Given the description of an element on the screen output the (x, y) to click on. 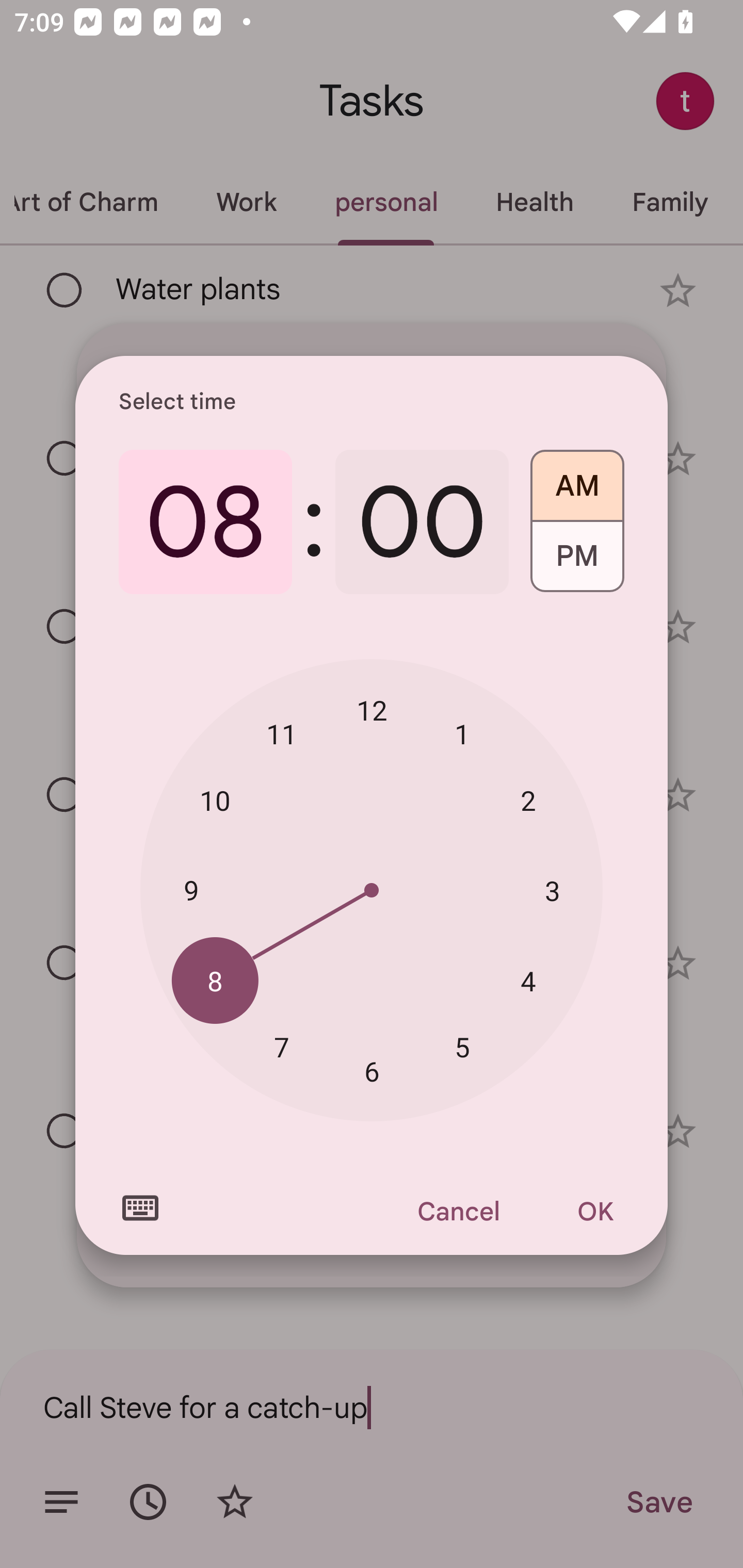
AM (577, 478)
08 8 o'clock (204, 522)
00 0 minutes (421, 522)
PM (577, 563)
12 12 o'clock (371, 710)
11 11 o'clock (281, 733)
1 1 o'clock (462, 733)
10 10 o'clock (214, 800)
2 2 o'clock (528, 800)
9 9 o'clock (190, 889)
3 3 o'clock (551, 890)
8 8 o'clock (214, 980)
4 4 o'clock (528, 980)
7 7 o'clock (281, 1046)
5 5 o'clock (462, 1046)
6 6 o'clock (371, 1071)
Switch to text input mode for the time input. (140, 1208)
Cancel (458, 1211)
OK (595, 1211)
